Given the description of an element on the screen output the (x, y) to click on. 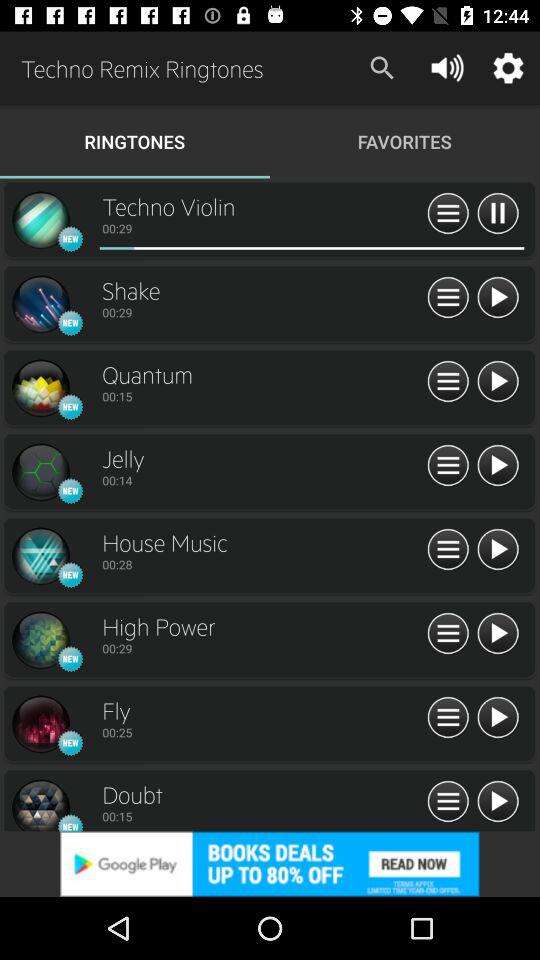
go to pay (497, 633)
